Given the description of an element on the screen output the (x, y) to click on. 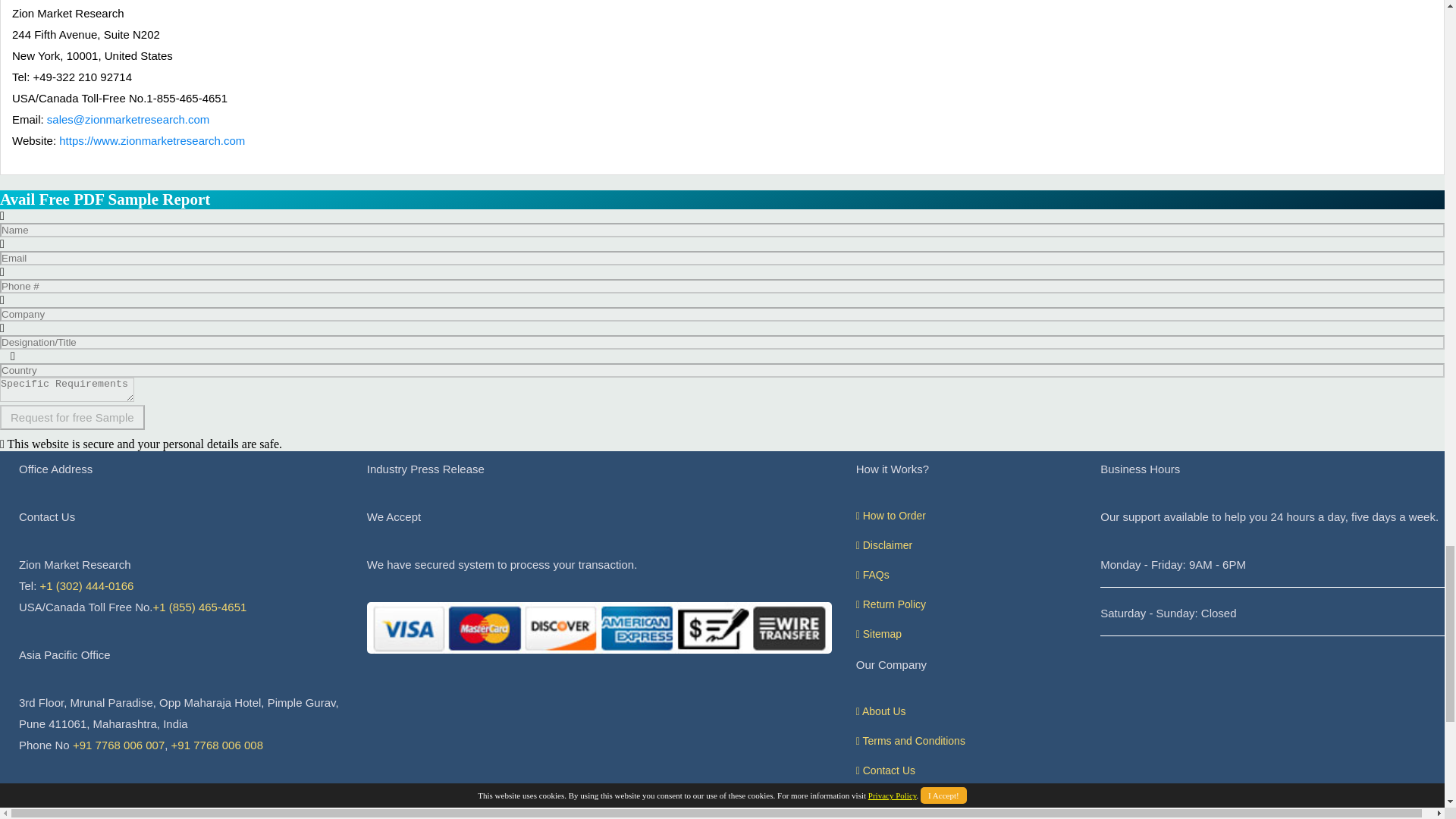
Request for free Sample (72, 416)
Disclaimer (884, 544)
How to Order (891, 515)
FAQs (872, 574)
